Given the description of an element on the screen output the (x, y) to click on. 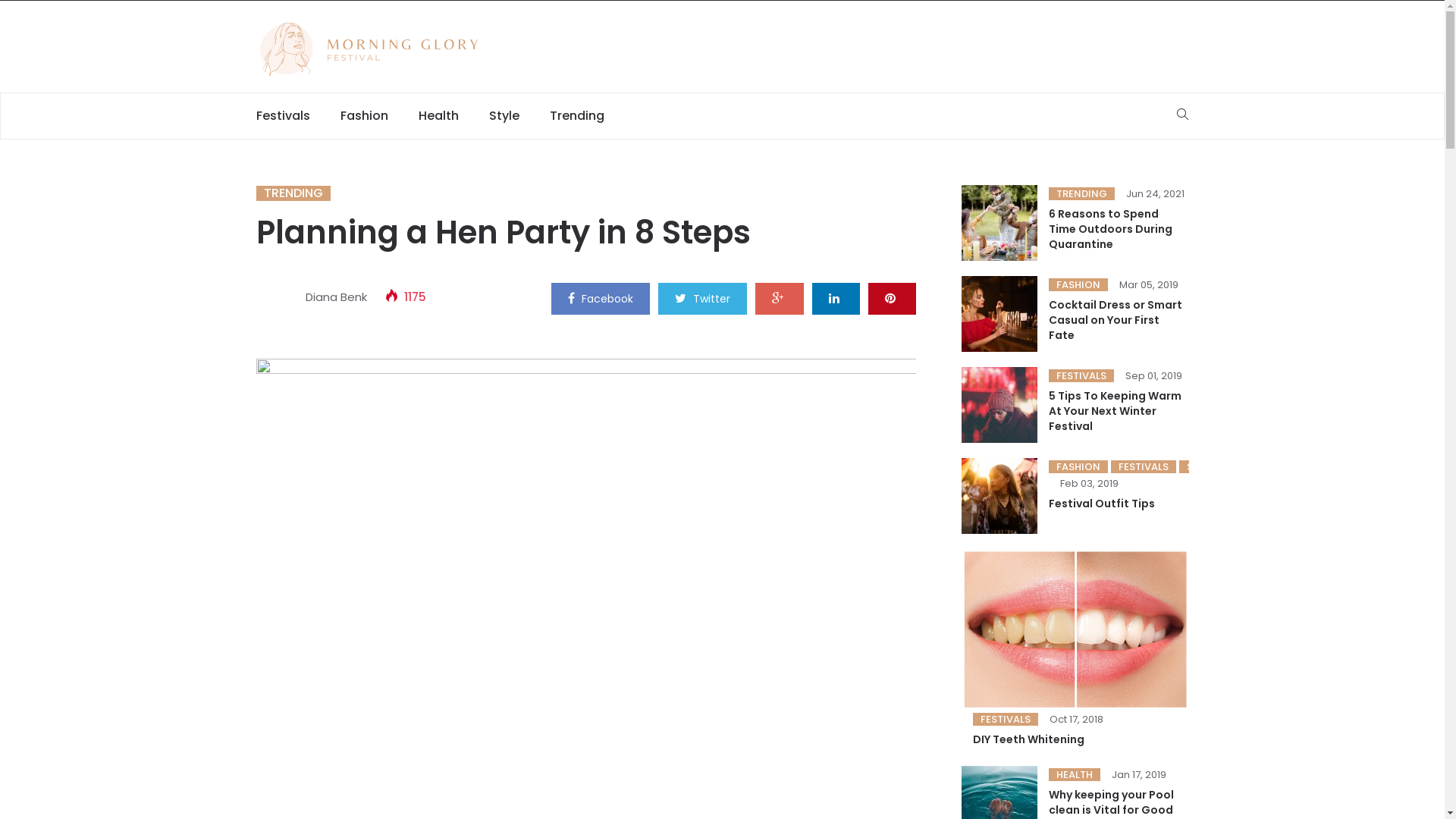
FASHION Element type: text (1077, 466)
Festivals Element type: text (290, 115)
Style Element type: text (503, 115)
TRENDING Element type: text (293, 192)
STYLE Element type: text (1199, 466)
FESTIVALS Element type: text (1004, 718)
TRENDING Element type: text (1080, 193)
Facebook Element type: text (599, 297)
Diana Benk Element type: text (335, 296)
FESTIVALS Element type: text (1142, 466)
google + Element type: hover (779, 297)
Twitter Element type: text (702, 297)
FESTIVALS Element type: text (1080, 375)
Health Element type: text (438, 115)
HEALTH Element type: text (1073, 774)
Cocktail Dress or Smart Casual on Your First Fate Element type: text (1114, 319)
Fashion Element type: text (363, 115)
FASHION Element type: text (1077, 284)
Trending Element type: text (575, 115)
DIY Teeth Whitening Element type: text (1027, 738)
Festival Outfit Tips Element type: text (1101, 503)
6 Reasons to Spend Time Outdoors During Quarantine Element type: text (1109, 228)
5 Tips To Keeping Warm At Your Next Winter Festival Element type: text (1114, 410)
pinterest Element type: hover (891, 297)
